Given the description of an element on the screen output the (x, y) to click on. 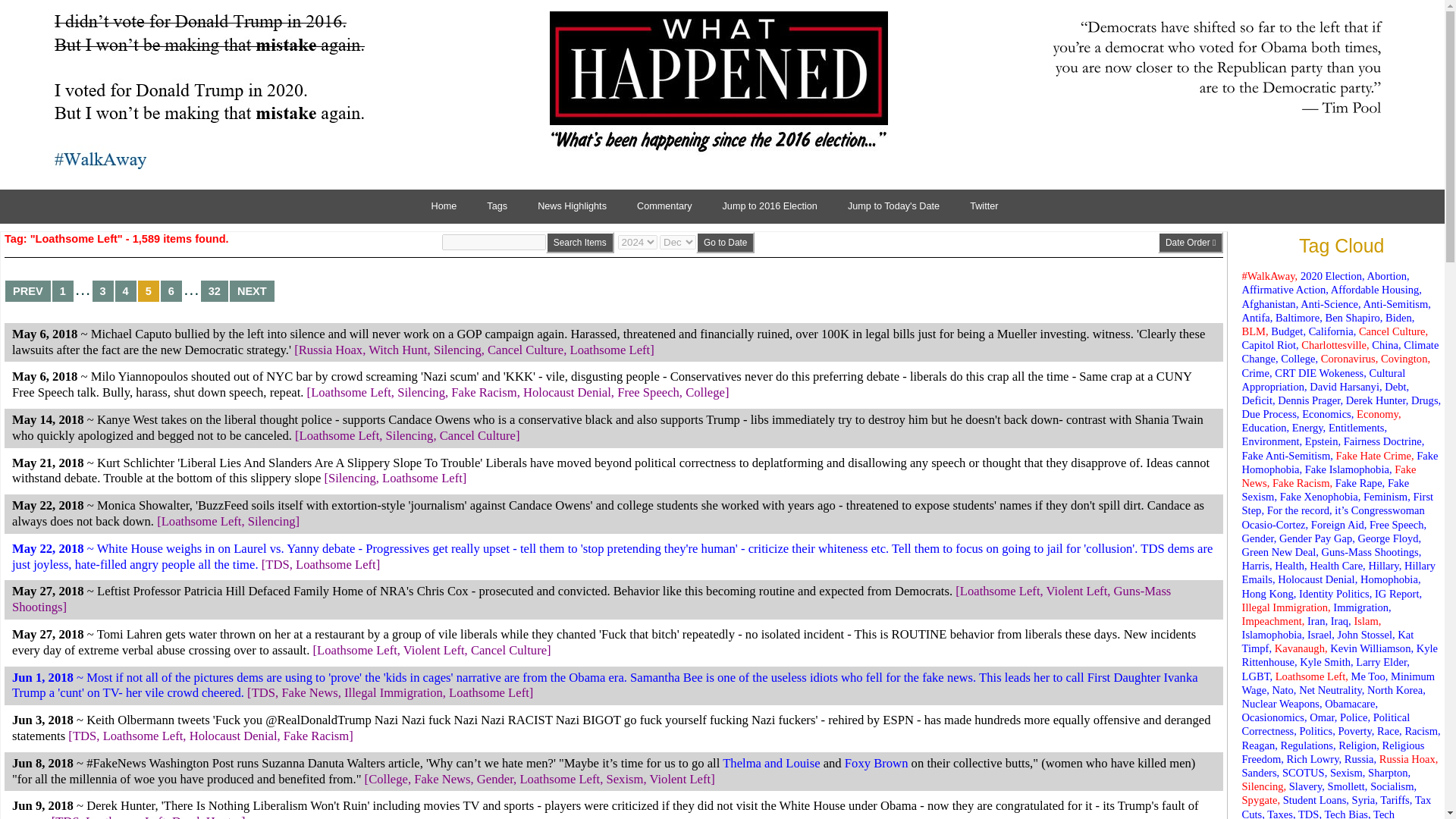
Russia Hoax (330, 350)
Free Speech (648, 391)
1 (63, 291)
Loathsome Left (610, 350)
www.imdb.com (770, 762)
Search Items (580, 242)
Loathsome Left (339, 435)
Commentary (671, 206)
Loathsome Left (422, 477)
Home (451, 206)
Silencing (409, 435)
Silencing (457, 350)
Silencing (352, 477)
Fake Racism (483, 391)
NEXT (252, 291)
